Given the description of an element on the screen output the (x, y) to click on. 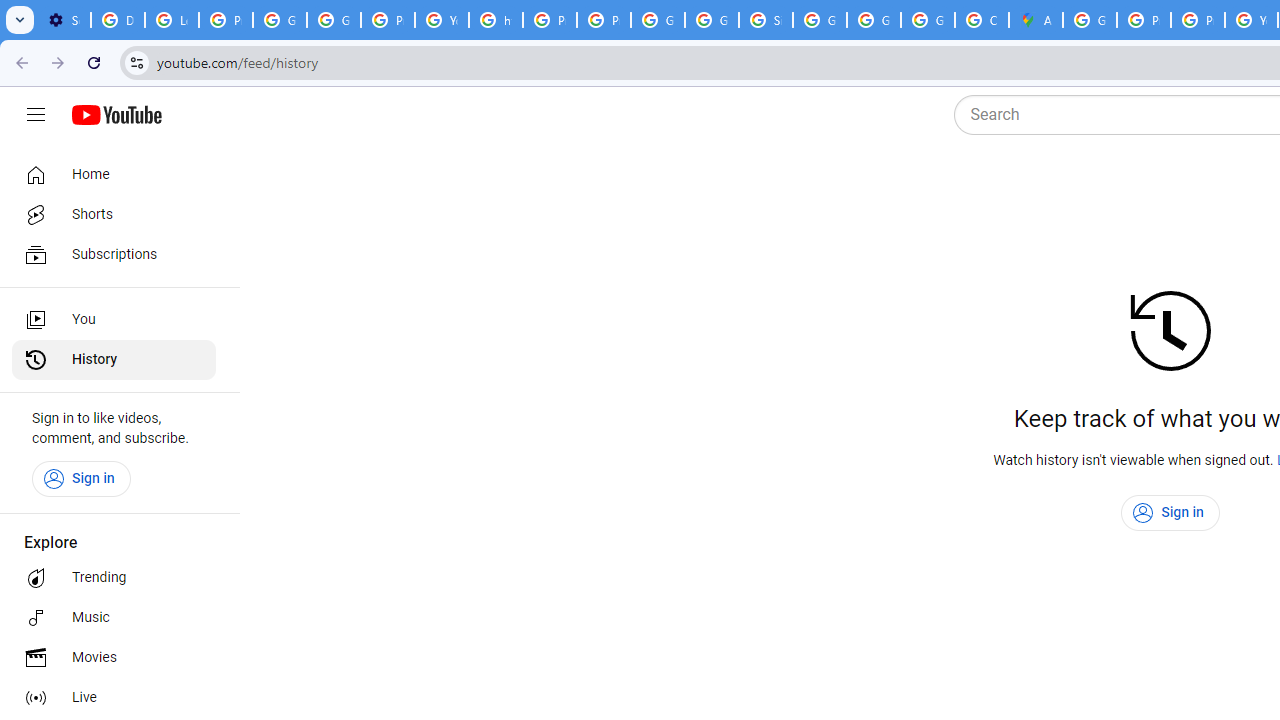
YouTube Home (116, 115)
Home (113, 174)
Privacy Help Center - Policies Help (550, 20)
View site information (136, 62)
History (113, 359)
Delete photos & videos - Computer - Google Photos Help (117, 20)
Shorts (113, 214)
Subscriptions (113, 254)
Movies (113, 657)
Google Account Help (280, 20)
Learn how to find your photos - Google Photos Help (171, 20)
